Given the description of an element on the screen output the (x, y) to click on. 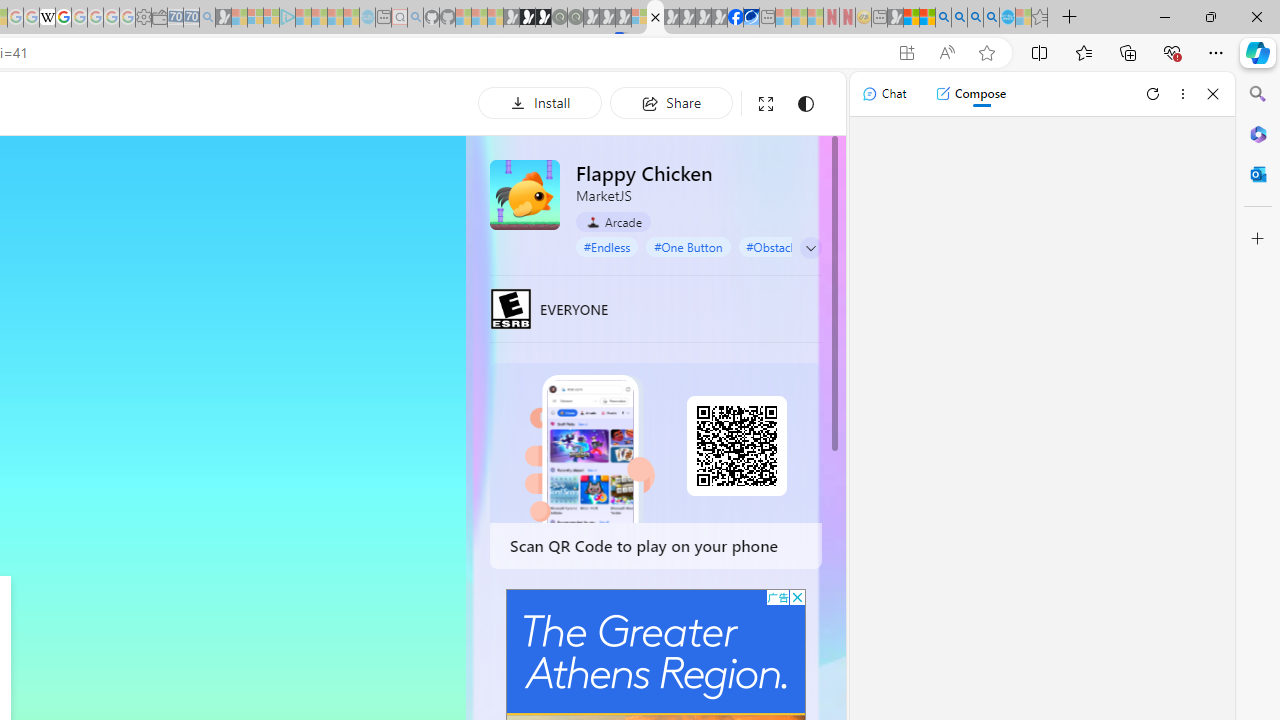
Favorites - Sleeping (1039, 17)
Google Chrome Internet Browser Download - Search Images (991, 17)
Compose (970, 93)
